Given the description of an element on the screen output the (x, y) to click on. 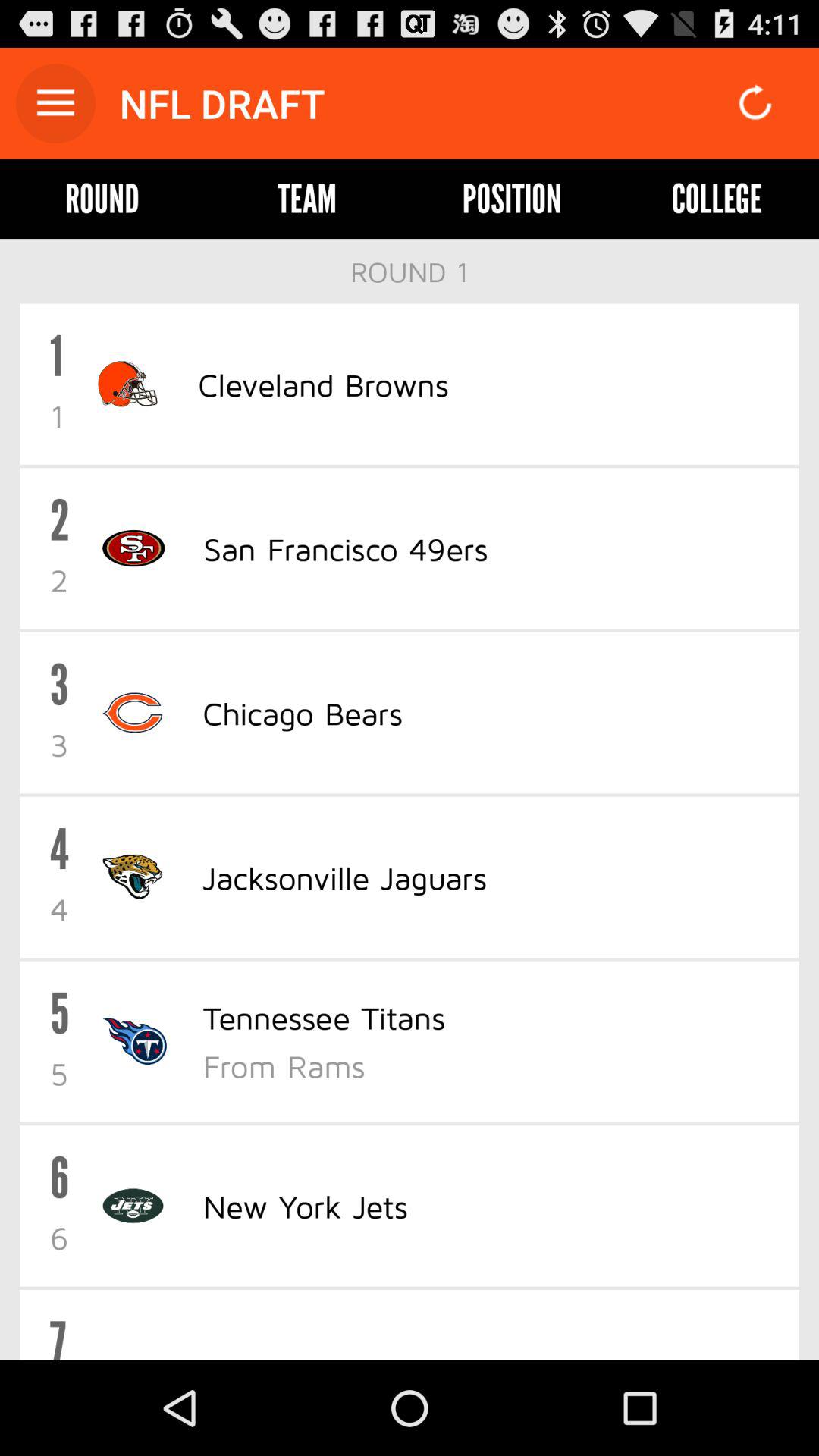
launch item below san francisco 49ers item (302, 712)
